Given the description of an element on the screen output the (x, y) to click on. 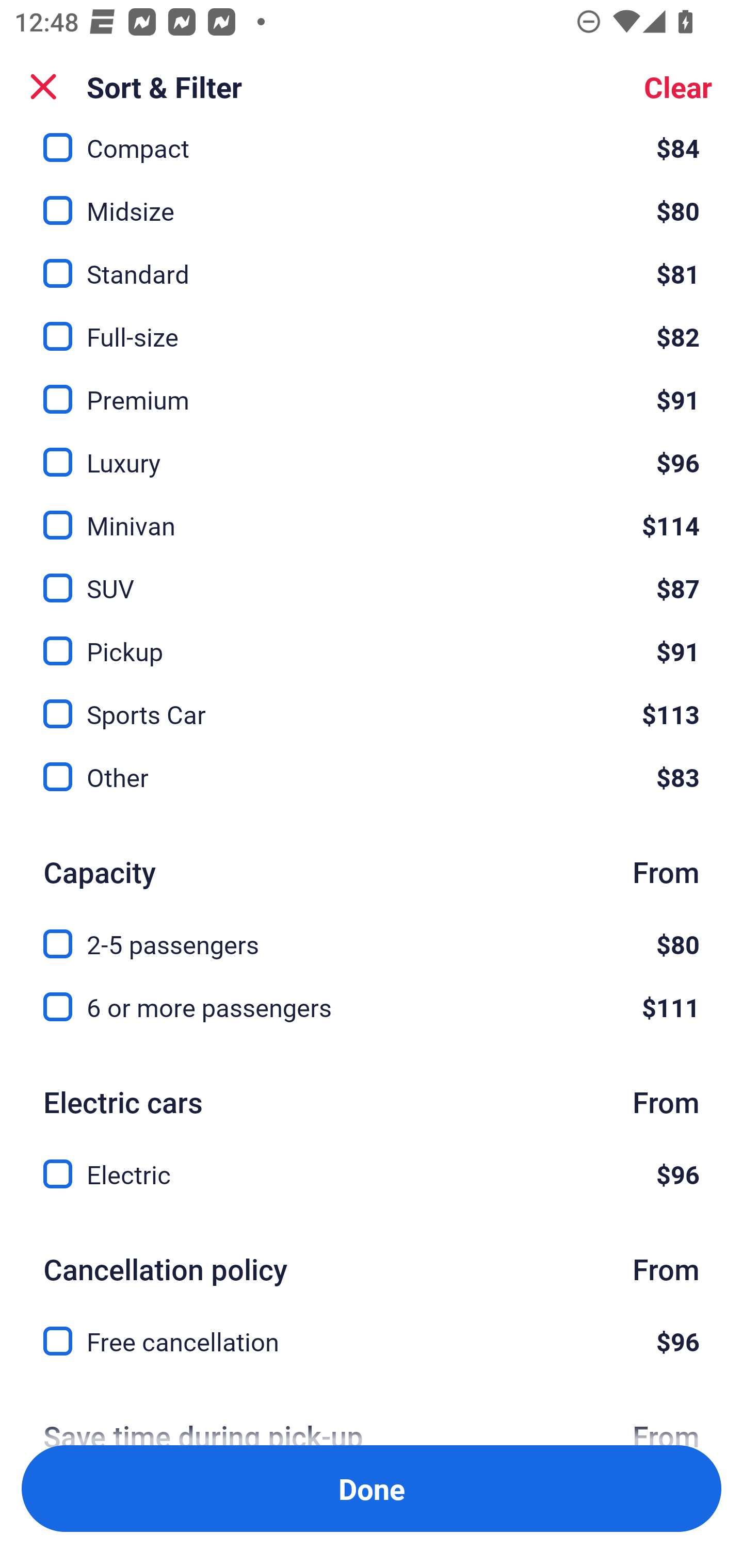
Close Sort and Filter (43, 86)
Clear (677, 86)
Compact, $84 Compact $84 (371, 148)
Midsize, $80 Midsize $80 (371, 198)
Standard, $81 Standard $81 (371, 261)
Full-size, $82 Full-size $82 (371, 324)
Premium, $91 Premium $91 (371, 386)
Luxury, $96 Luxury $96 (371, 450)
Minivan, $114 Minivan $114 (371, 513)
SUV, $87 SUV $87 (371, 576)
Pickup, $91 Pickup $91 (371, 639)
Sports Car, $113 Sports Car $113 (371, 702)
Other, $83 Other $83 (371, 776)
2-5 passengers, $80 2-5 passengers $80 (371, 932)
Electric, $96 Electric $96 (371, 1174)
Free cancellation, $96 Free cancellation $96 (371, 1341)
Apply and close Sort and Filter Done (371, 1488)
